Given the description of an element on the screen output the (x, y) to click on. 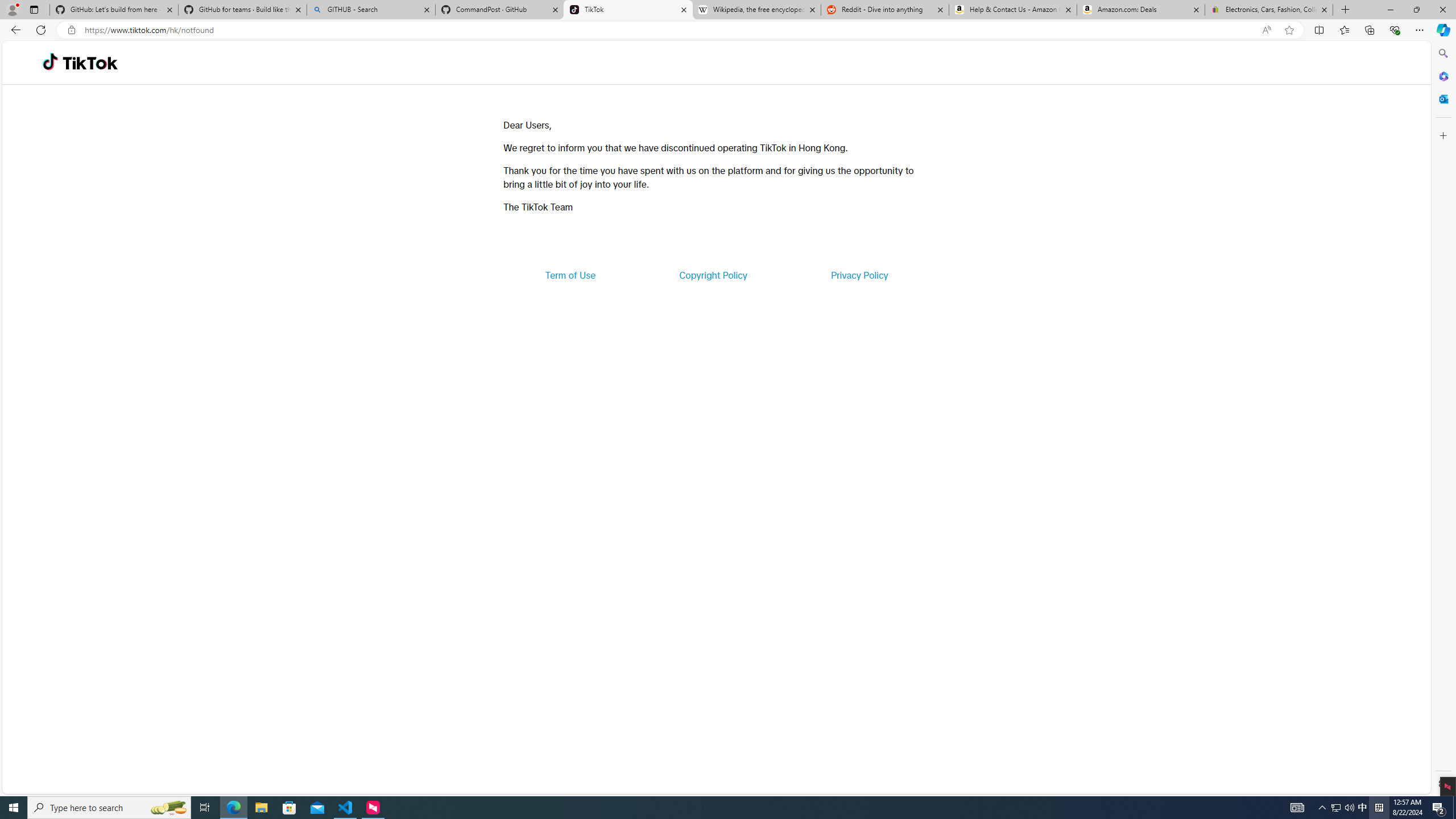
Copyright Policy (712, 274)
GITHUB - Search (370, 9)
Term of Use (569, 274)
